Given the description of an element on the screen output the (x, y) to click on. 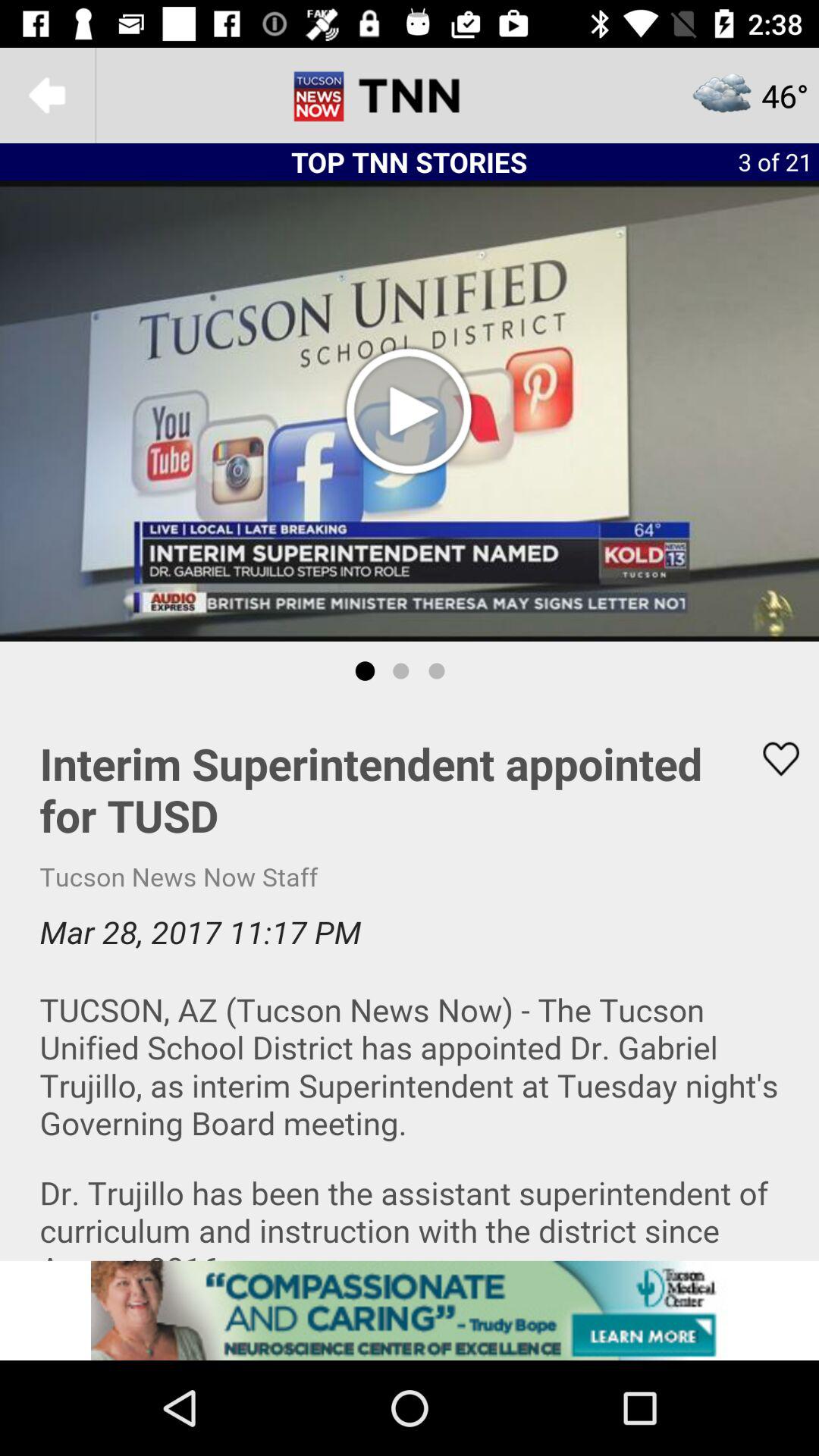
like button (771, 758)
